Given the description of an element on the screen output the (x, y) to click on. 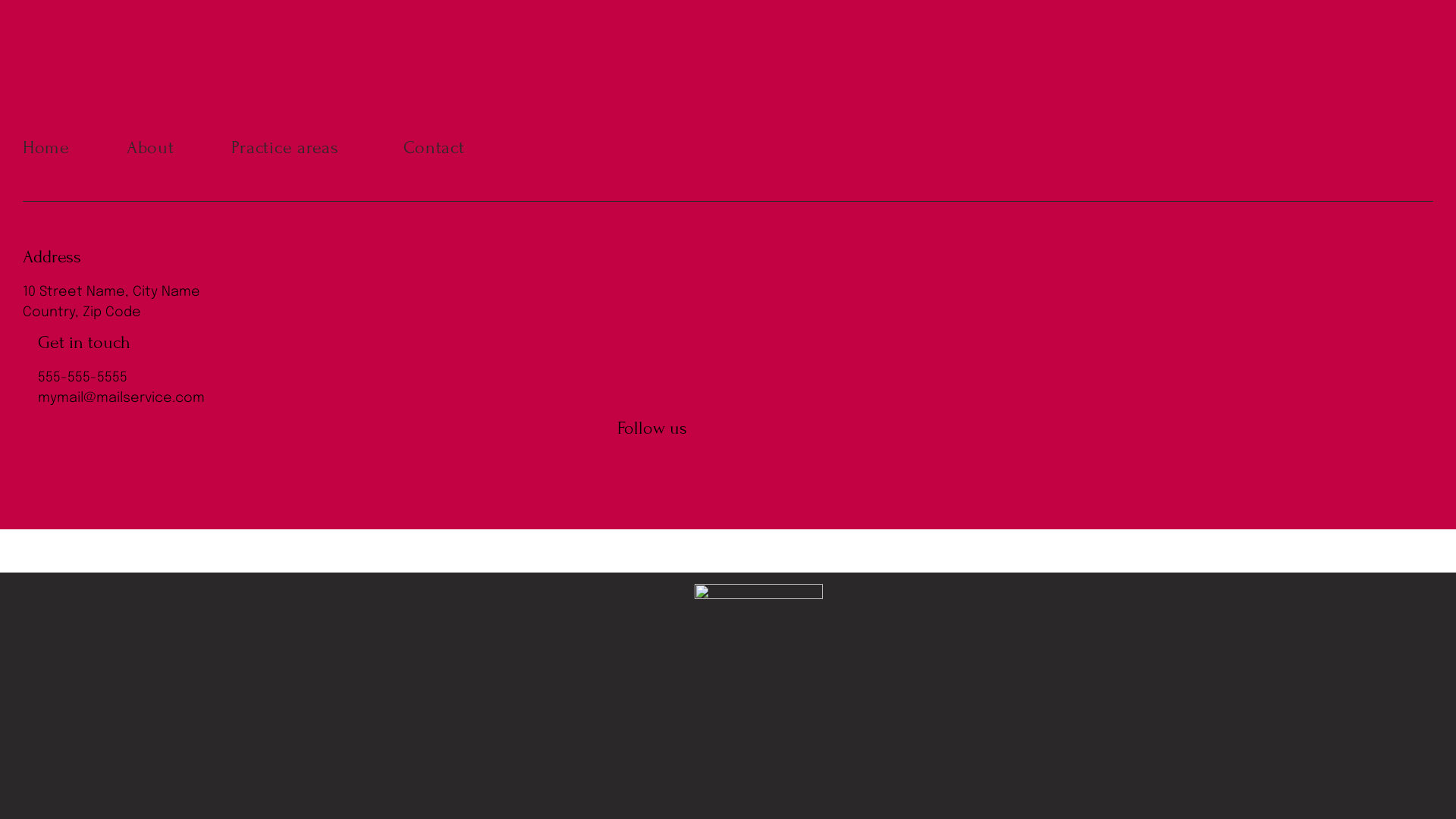
Contact Element type: text (462, 147)
About Element type: text (178, 147)
Practice areas Element type: text (316, 147)
Home Element type: text (74, 147)
